Given the description of an element on the screen output the (x, y) to click on. 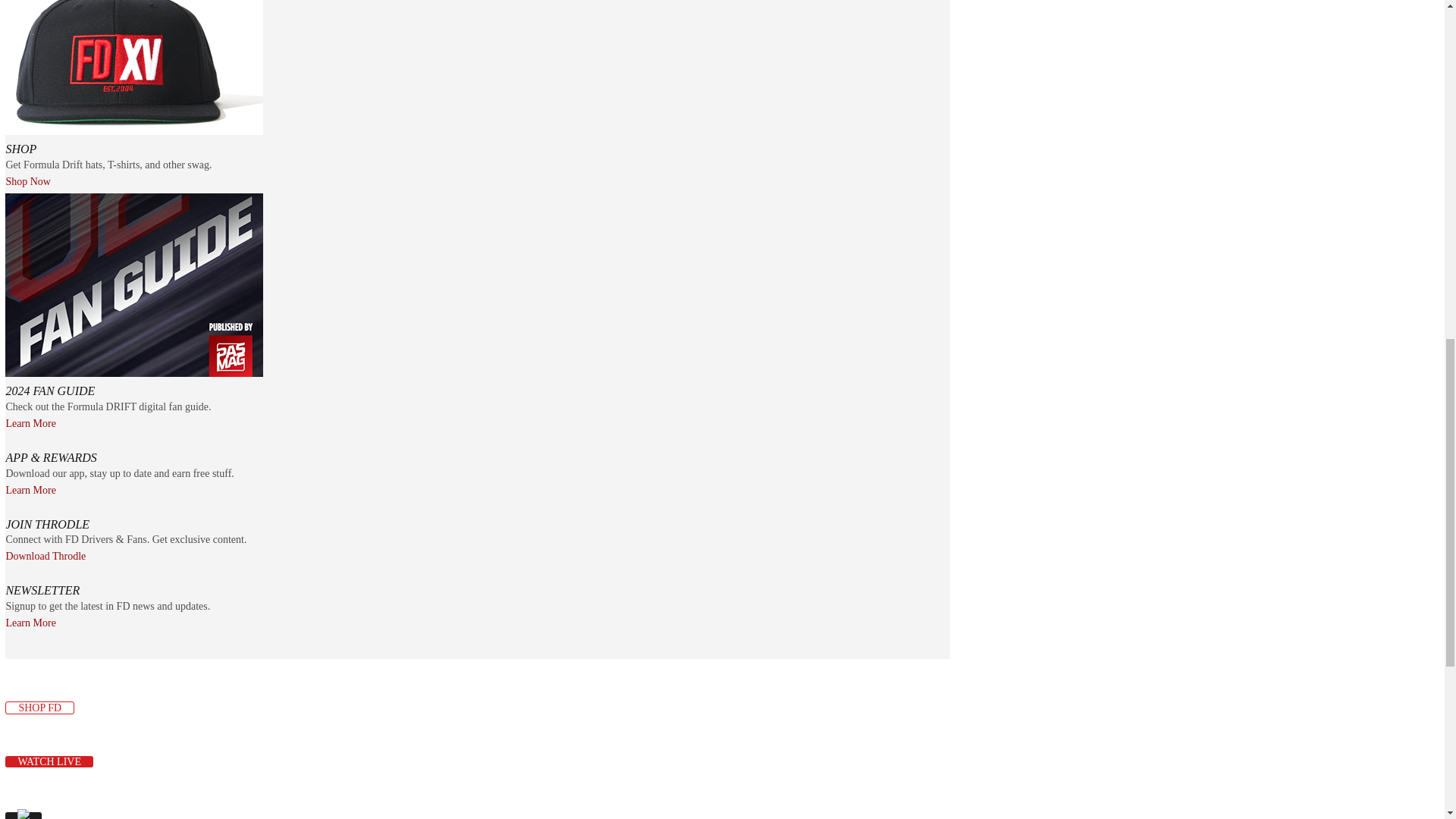
Learn More (30, 423)
Shop Now (27, 181)
WATCH LIVE (49, 761)
Download Throdle (45, 556)
Learn More (30, 490)
SHOP FD (39, 707)
Learn More (30, 623)
